Given the description of an element on the screen output the (x, y) to click on. 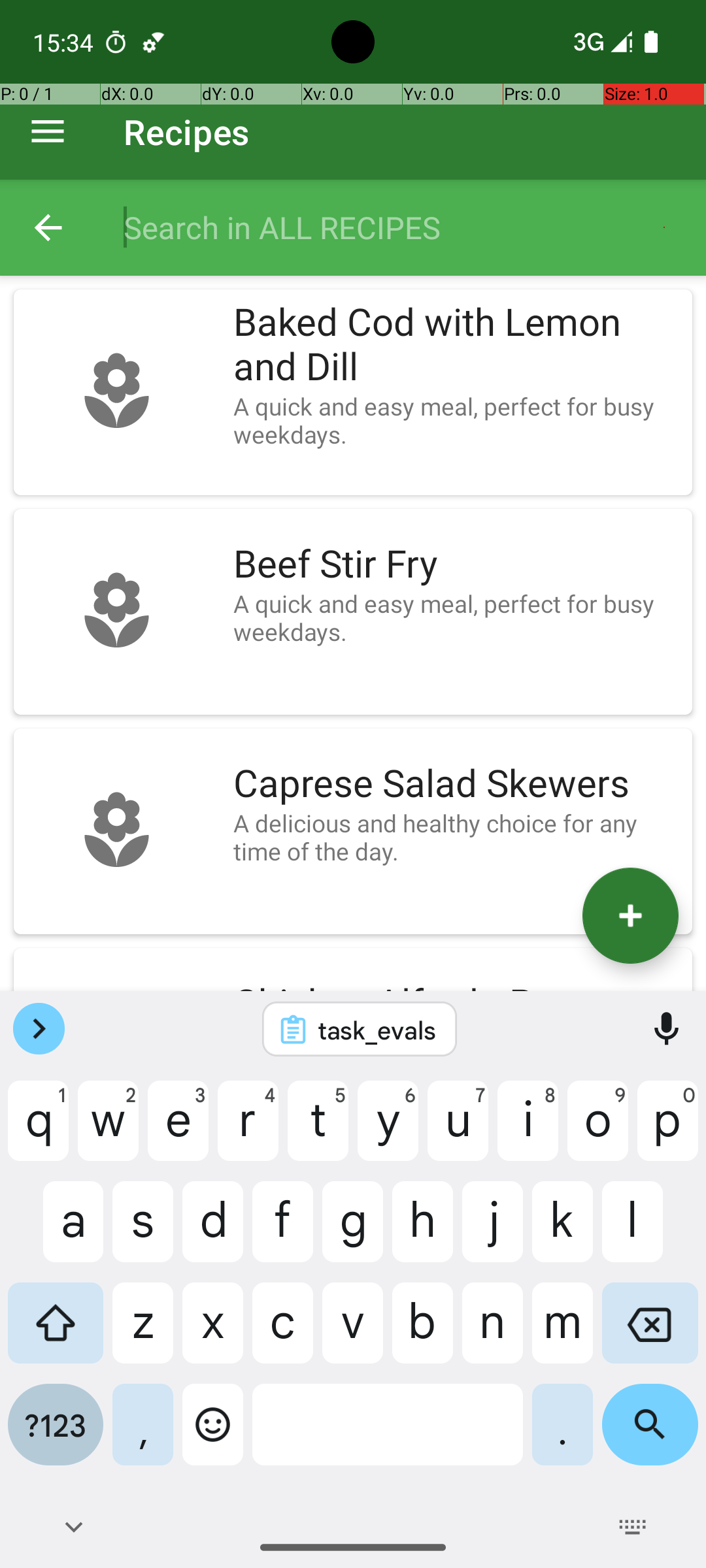
task_evals Element type: android.widget.TextView (376, 1029)
